Given the description of an element on the screen output the (x, y) to click on. 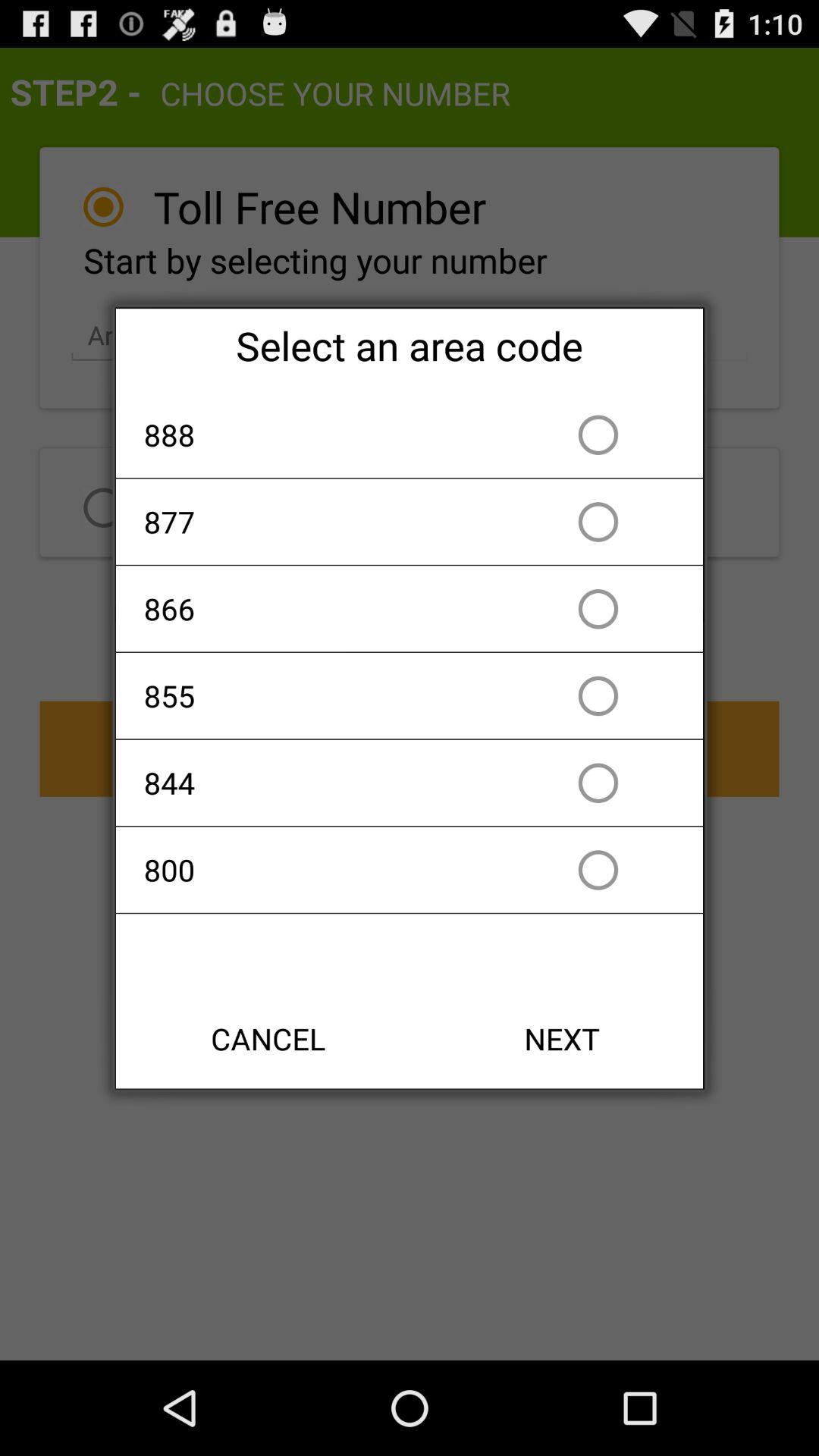
turn on the icon below select an area icon (322, 434)
